Given the description of an element on the screen output the (x, y) to click on. 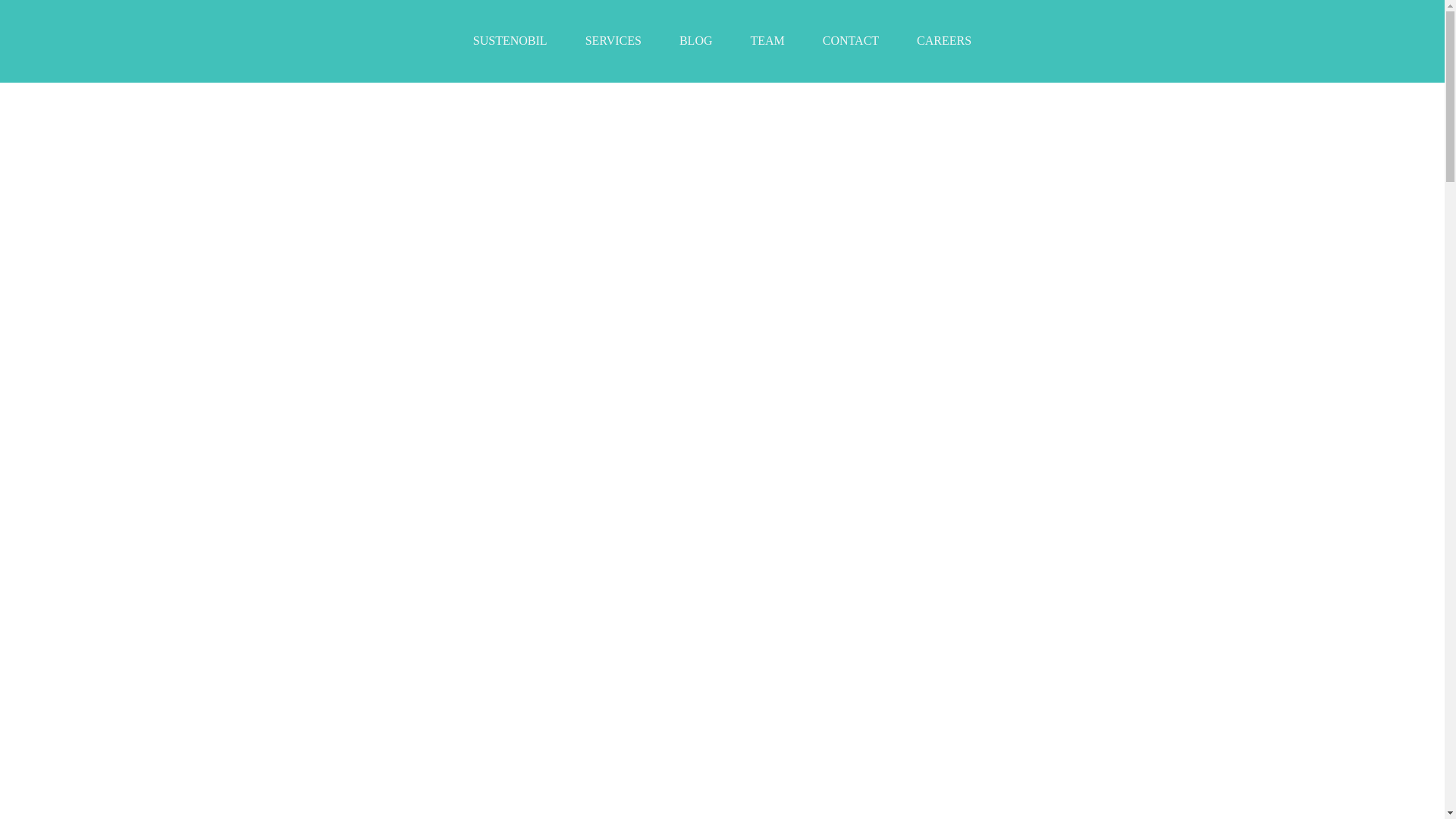
CONTACT (850, 40)
TEAM (767, 40)
SUSTENOBIL (510, 40)
CAREERS (944, 40)
SERVICES (613, 40)
BLOG (696, 40)
